Given the description of an element on the screen output the (x, y) to click on. 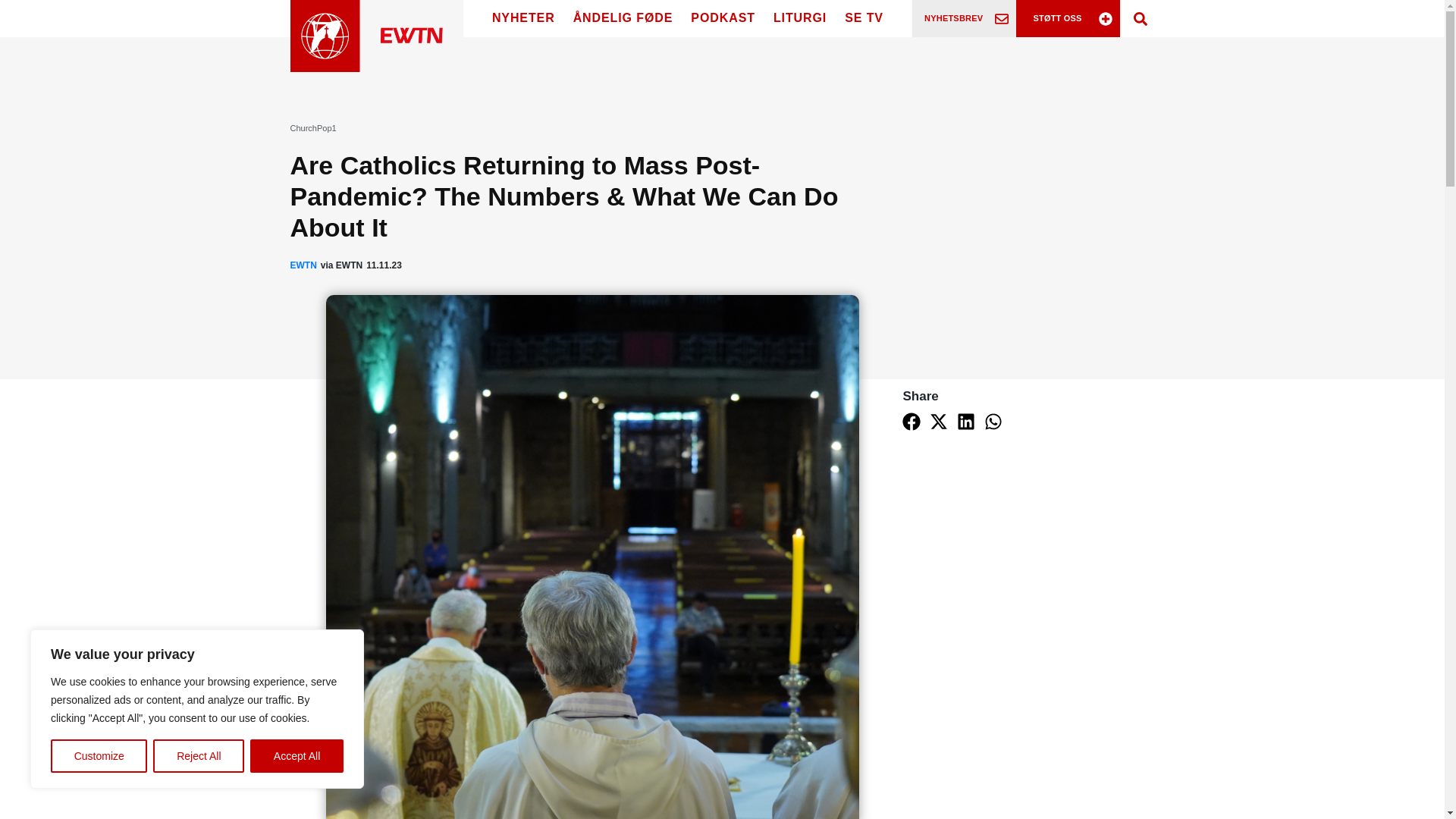
NYHETER (523, 18)
Customize (98, 756)
PODKAST (722, 18)
Reject All (198, 756)
LITURGI (799, 18)
Accept All (296, 756)
SE TV (863, 18)
ChurchPop1 (312, 127)
NYHETSBREV (953, 17)
EWTN (302, 264)
